Given the description of an element on the screen output the (x, y) to click on. 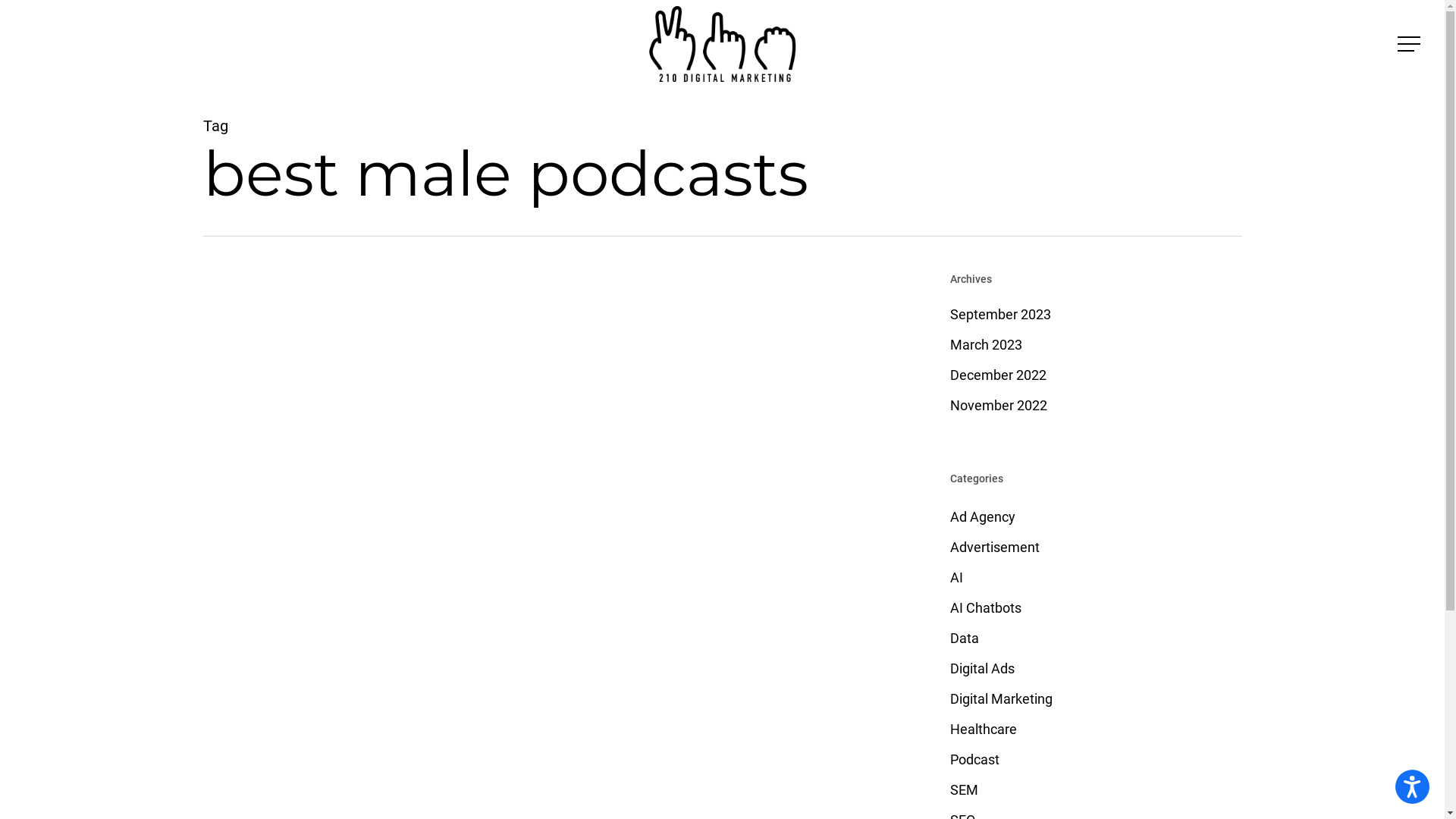
December 2022 Element type: text (1093, 375)
September 2023 Element type: text (1093, 314)
Data Element type: text (1093, 638)
Ad Agency Element type: text (1093, 517)
AI Element type: text (1093, 577)
Advertisement Element type: text (1093, 547)
Menu Element type: text (1410, 44)
Digital Marketing Element type: text (1093, 699)
Podcast Element type: text (1093, 759)
Digital Ads Element type: text (1093, 668)
March 2023 Element type: text (1093, 344)
SEM Element type: text (1093, 790)
Healthcare Element type: text (1093, 729)
November 2022 Element type: text (1093, 405)
AI Chatbots Element type: text (1093, 608)
